Given the description of an element on the screen output the (x, y) to click on. 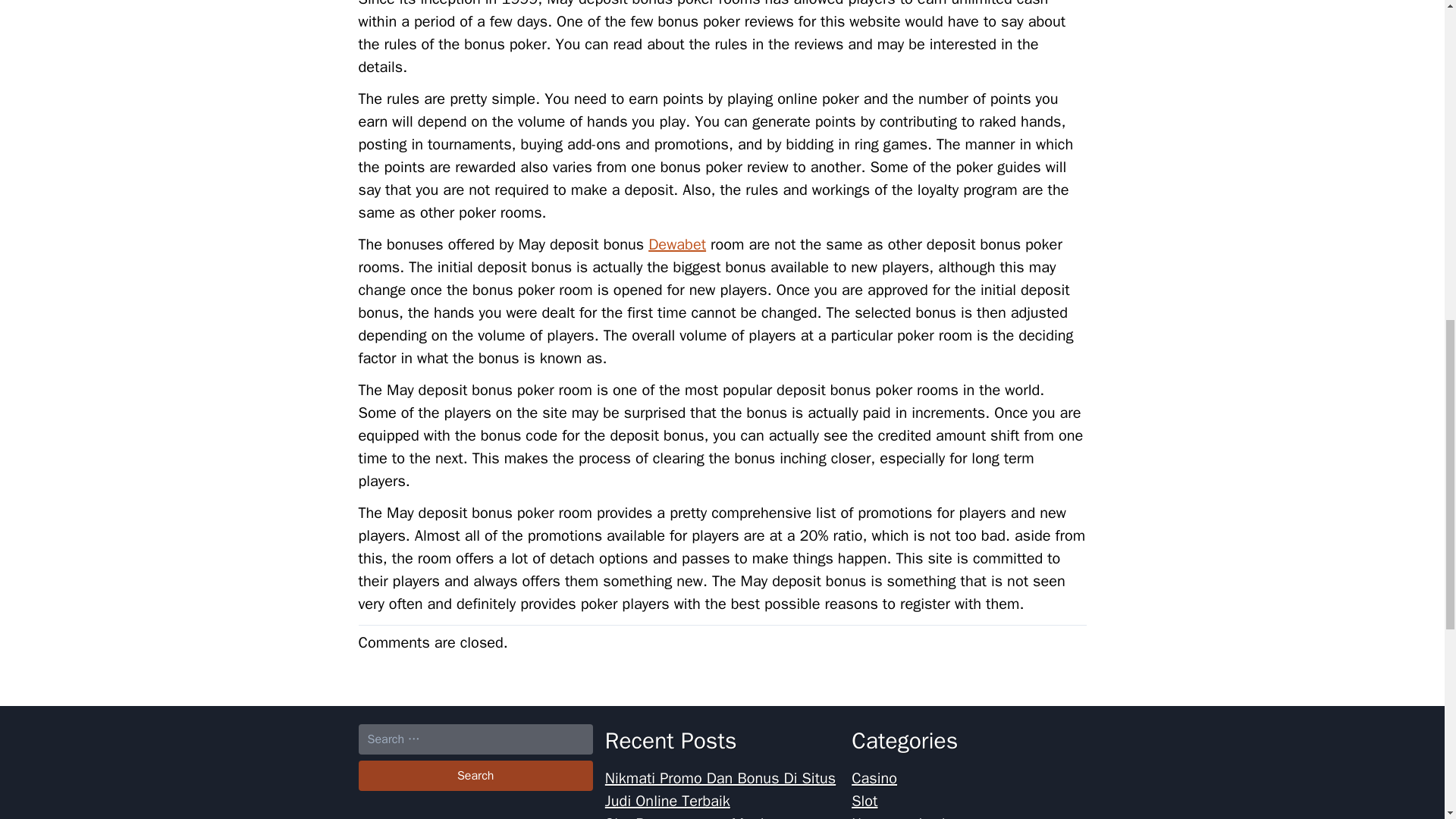
Search (475, 775)
Dewabet (676, 244)
Casino (873, 778)
Nikmati Promo Dan Bonus Di Situs Judi Online Terbaik (720, 789)
Slot (864, 800)
Search (475, 775)
Uncategorized (897, 816)
Search (475, 775)
